Given the description of an element on the screen output the (x, y) to click on. 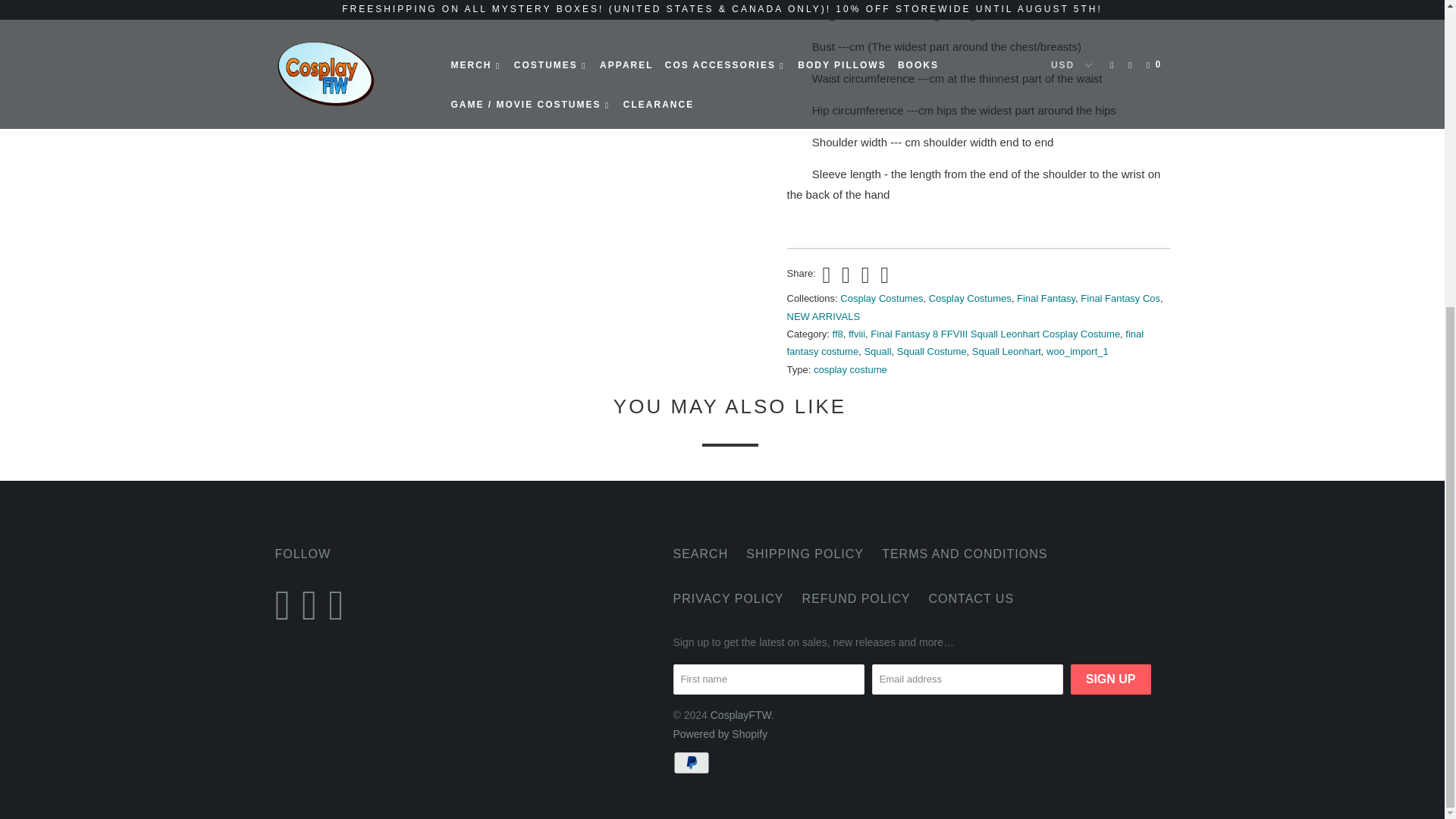
Sign Up (1110, 679)
Cosplay Costumes (969, 297)
Cosplay Costumes (881, 297)
Final Fantasy Cos (1120, 297)
PayPal (692, 762)
NEW ARRIVALS (823, 316)
Final Fantasy (1045, 297)
